Given the description of an element on the screen output the (x, y) to click on. 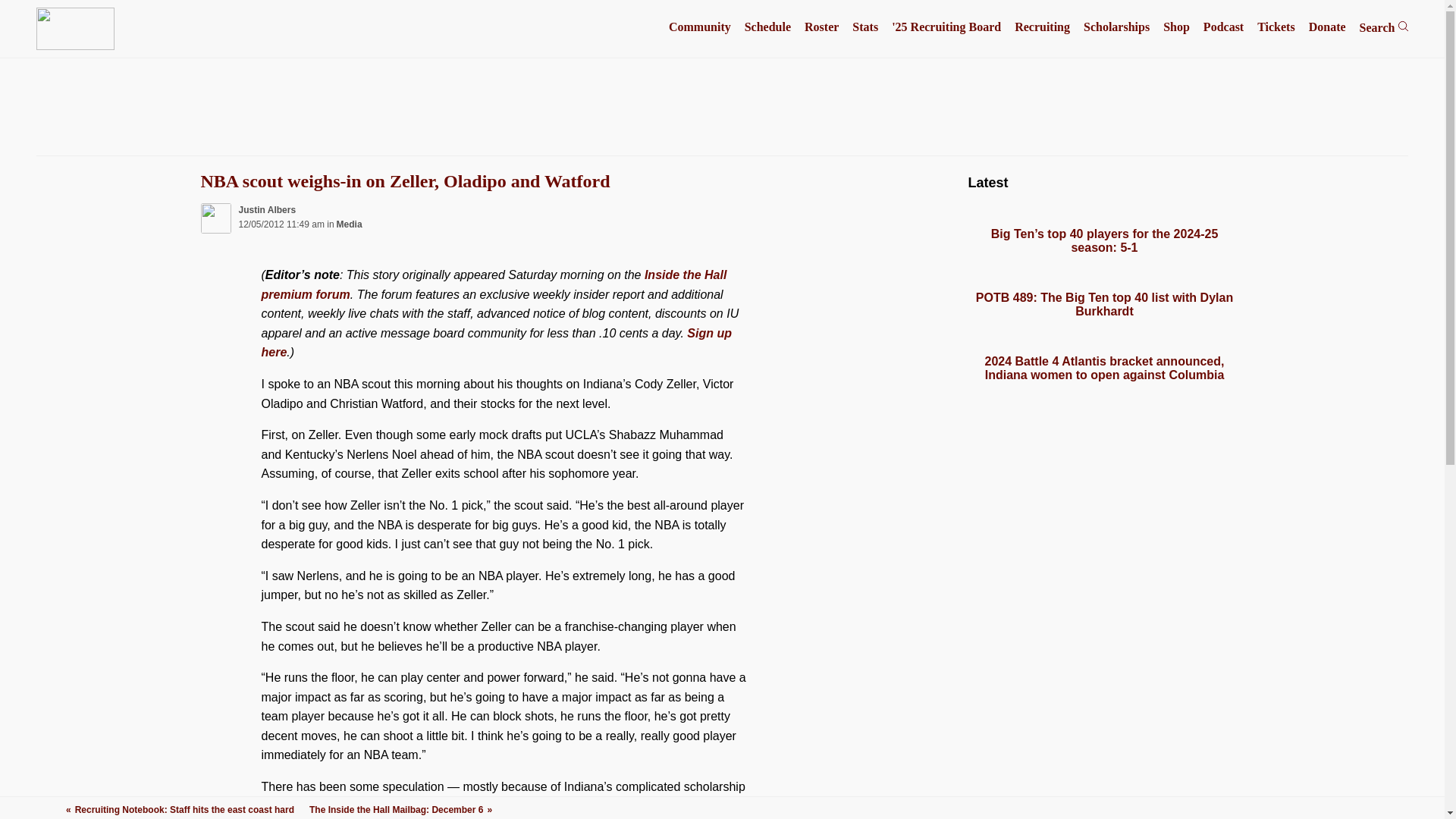
Justin Albers (266, 209)
Community (699, 26)
Donate (1326, 26)
Sign up here (495, 342)
Schedule (767, 26)
Recruiting (1042, 26)
Inside the Hall premium forum (493, 284)
Media (349, 224)
Scholarships (1116, 26)
'25 Recruiting Board (946, 26)
